Given the description of an element on the screen output the (x, y) to click on. 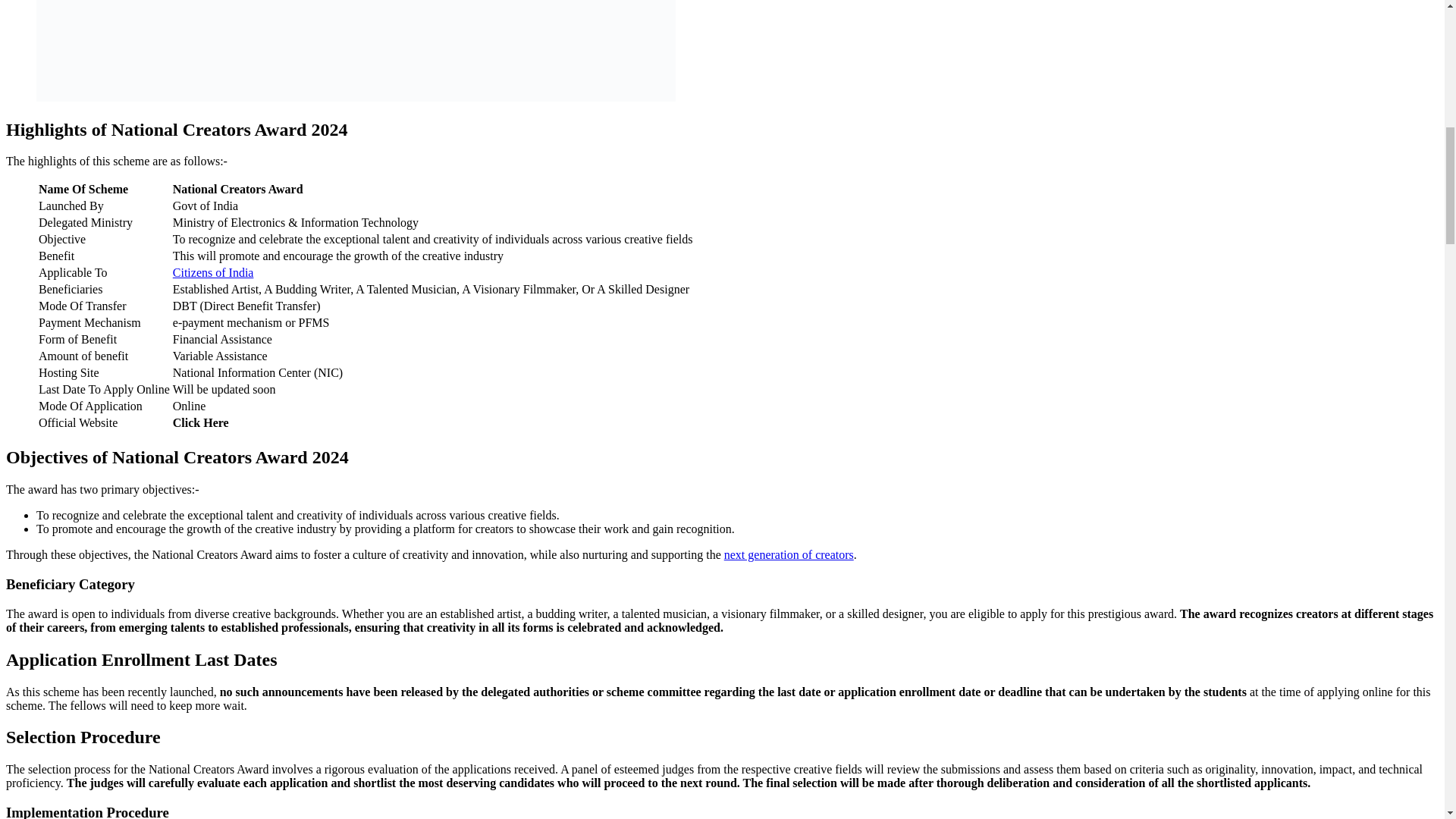
next generation of creators (788, 554)
Citizens of India (213, 272)
